Given the description of an element on the screen output the (x, y) to click on. 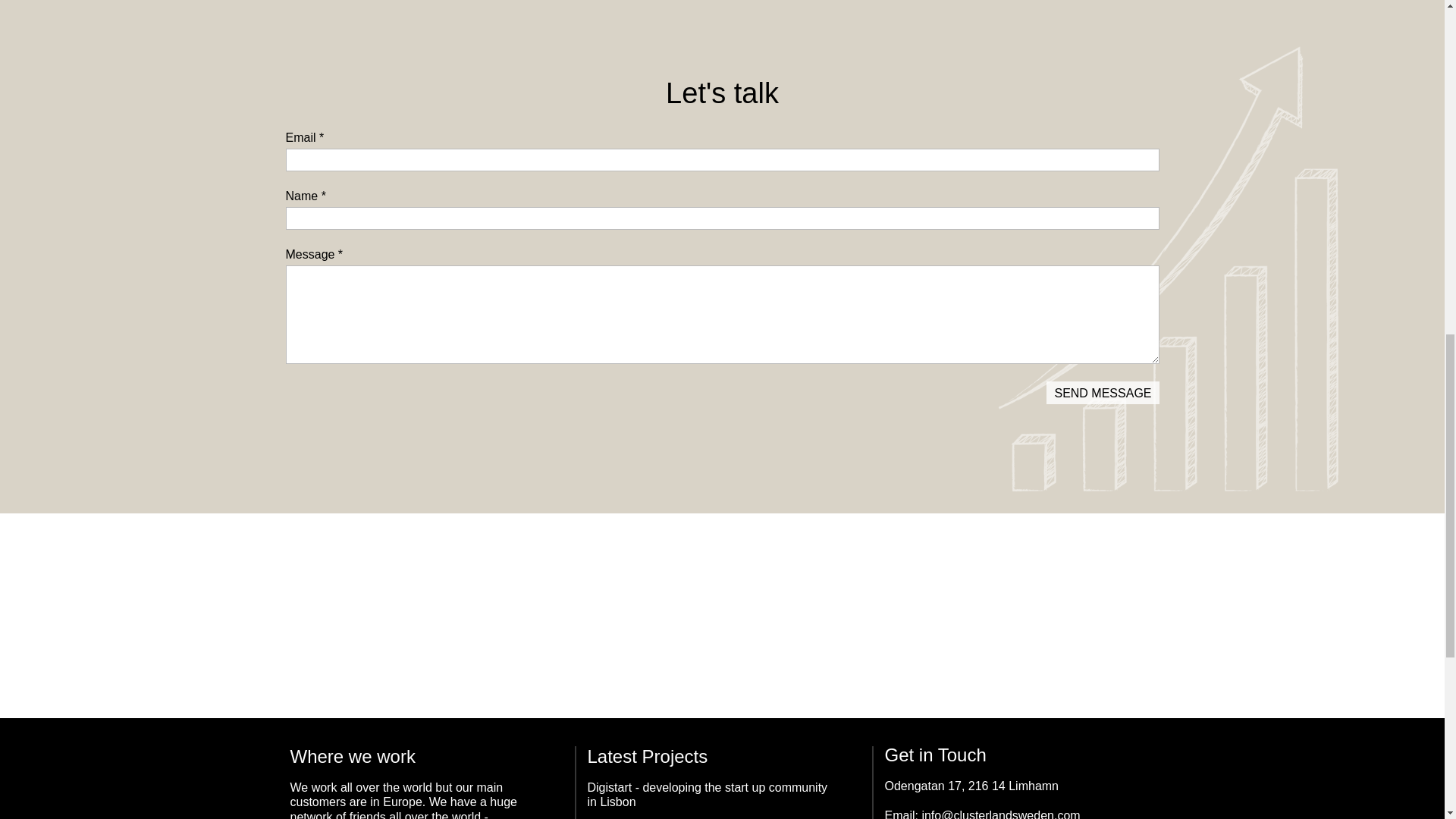
SEND MESSAGE (1102, 392)
SEND MESSAGE (1102, 392)
